Given the description of an element on the screen output the (x, y) to click on. 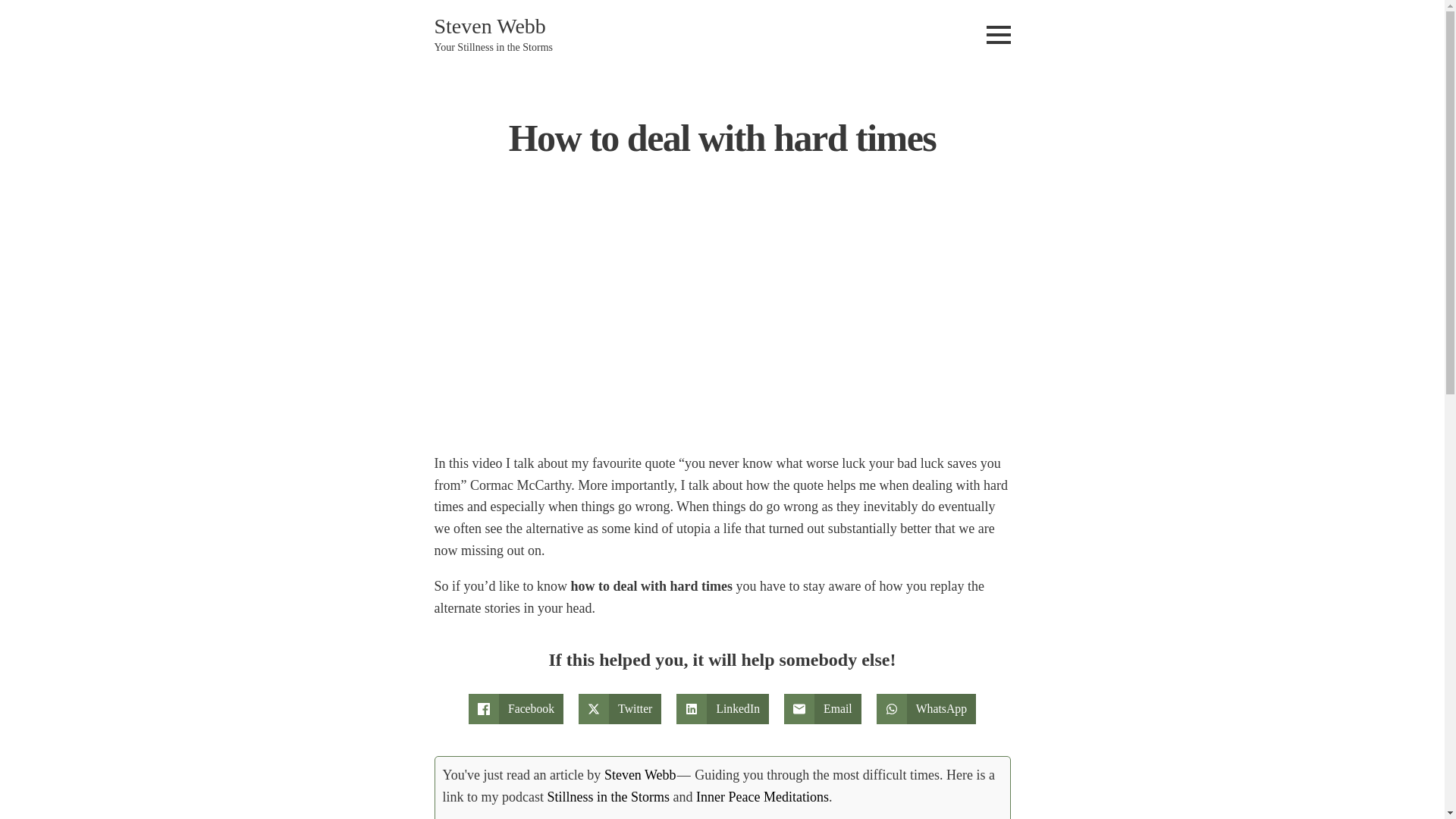
Stillness in the Storms (608, 796)
How to deal with hard times (622, 325)
Inner Peace Meditations (761, 796)
Steven Webb (640, 774)
Steven Webb (488, 26)
